Given the description of an element on the screen output the (x, y) to click on. 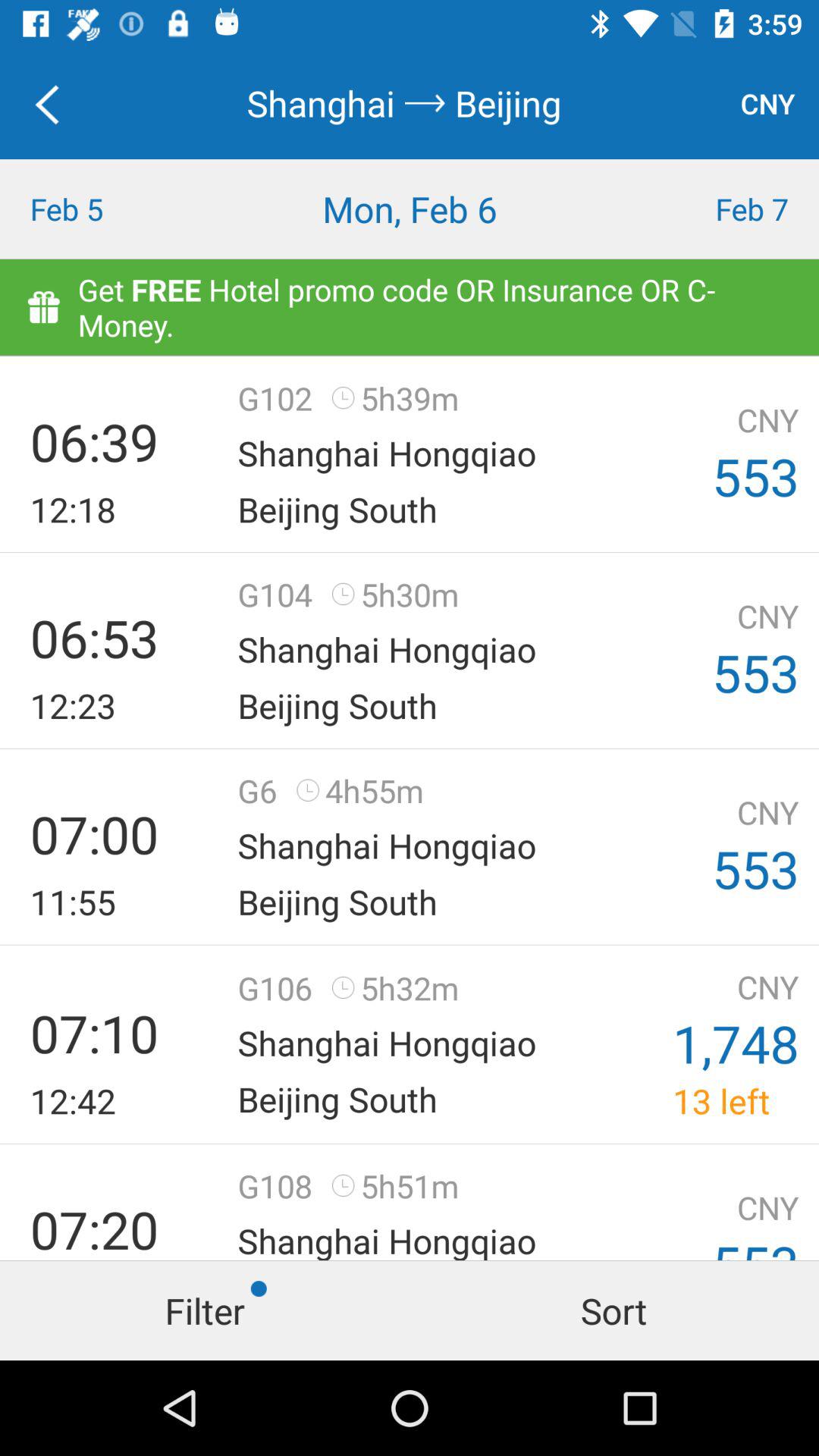
tap the item next to feb 5 (409, 208)
